Given the description of an element on the screen output the (x, y) to click on. 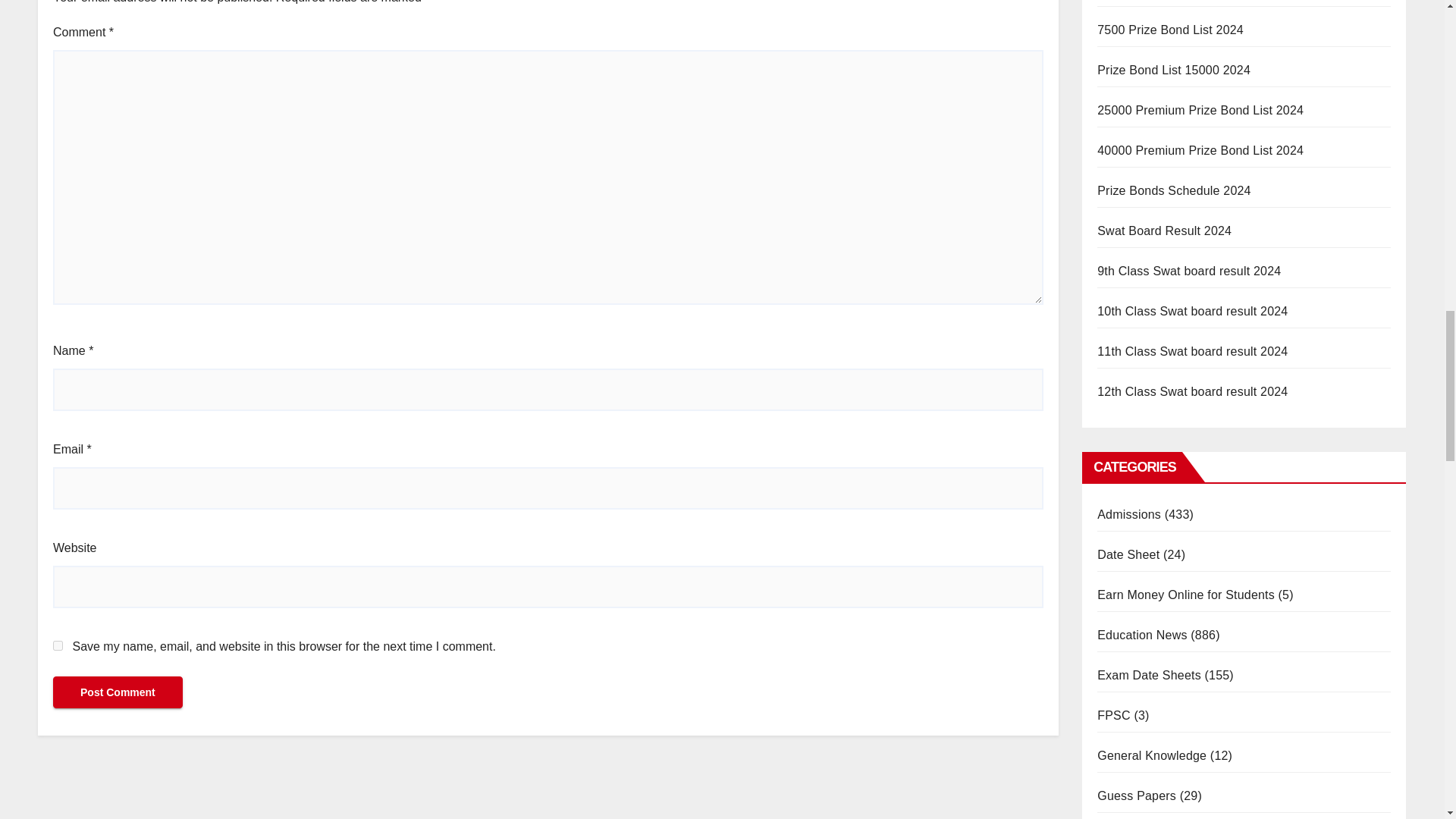
Post Comment (117, 692)
yes (57, 645)
